Given the description of an element on the screen output the (x, y) to click on. 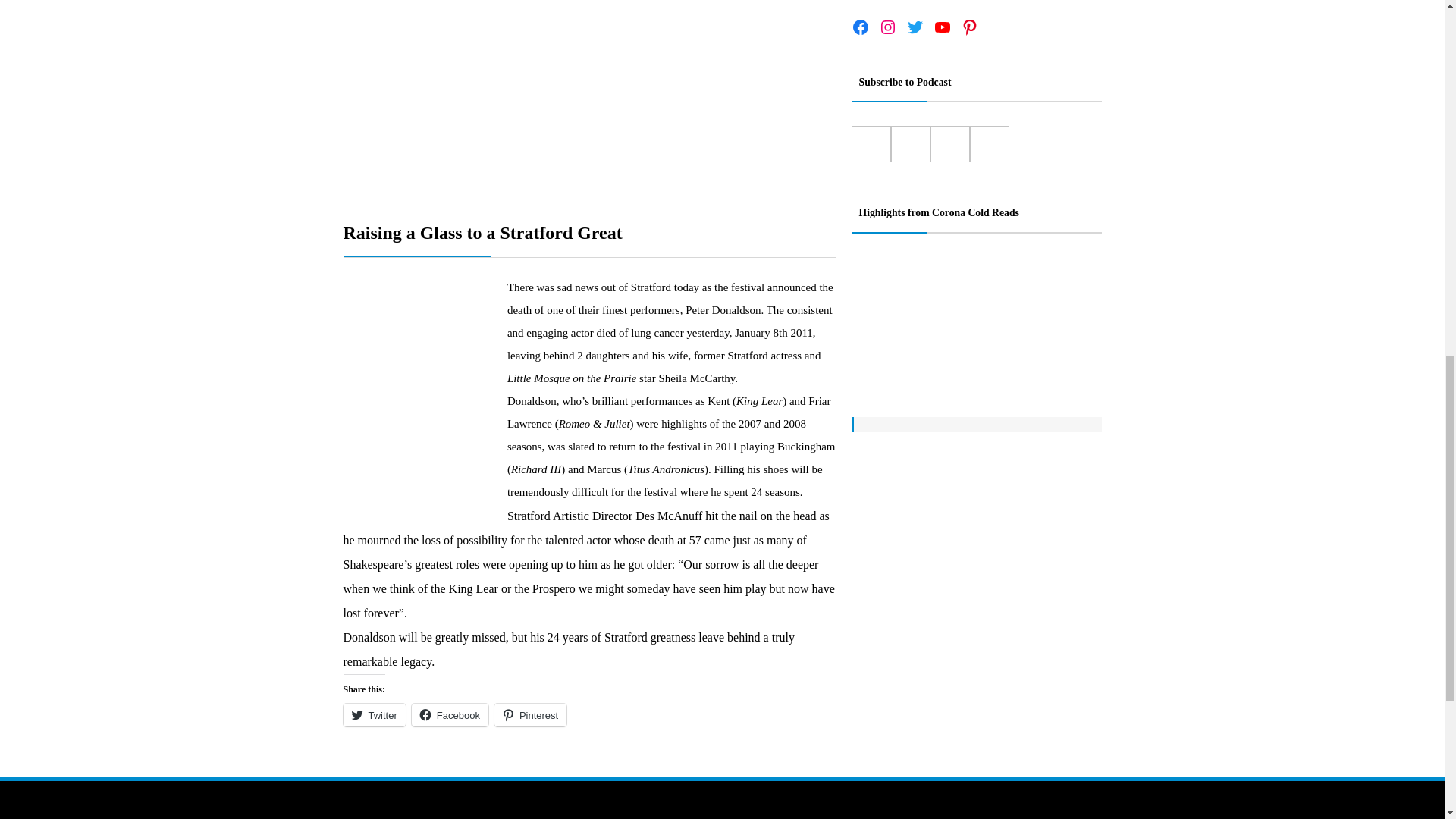
Raising a Glass to a Stratford Great (588, 233)
Click to share on Facebook (449, 714)
Click to share on Twitter (373, 714)
Twitter (373, 714)
Facebook (449, 714)
Click to share on Pinterest (530, 714)
Pinterest (530, 714)
Raising a Glass to a Stratford Great (588, 97)
